Given the description of an element on the screen output the (x, y) to click on. 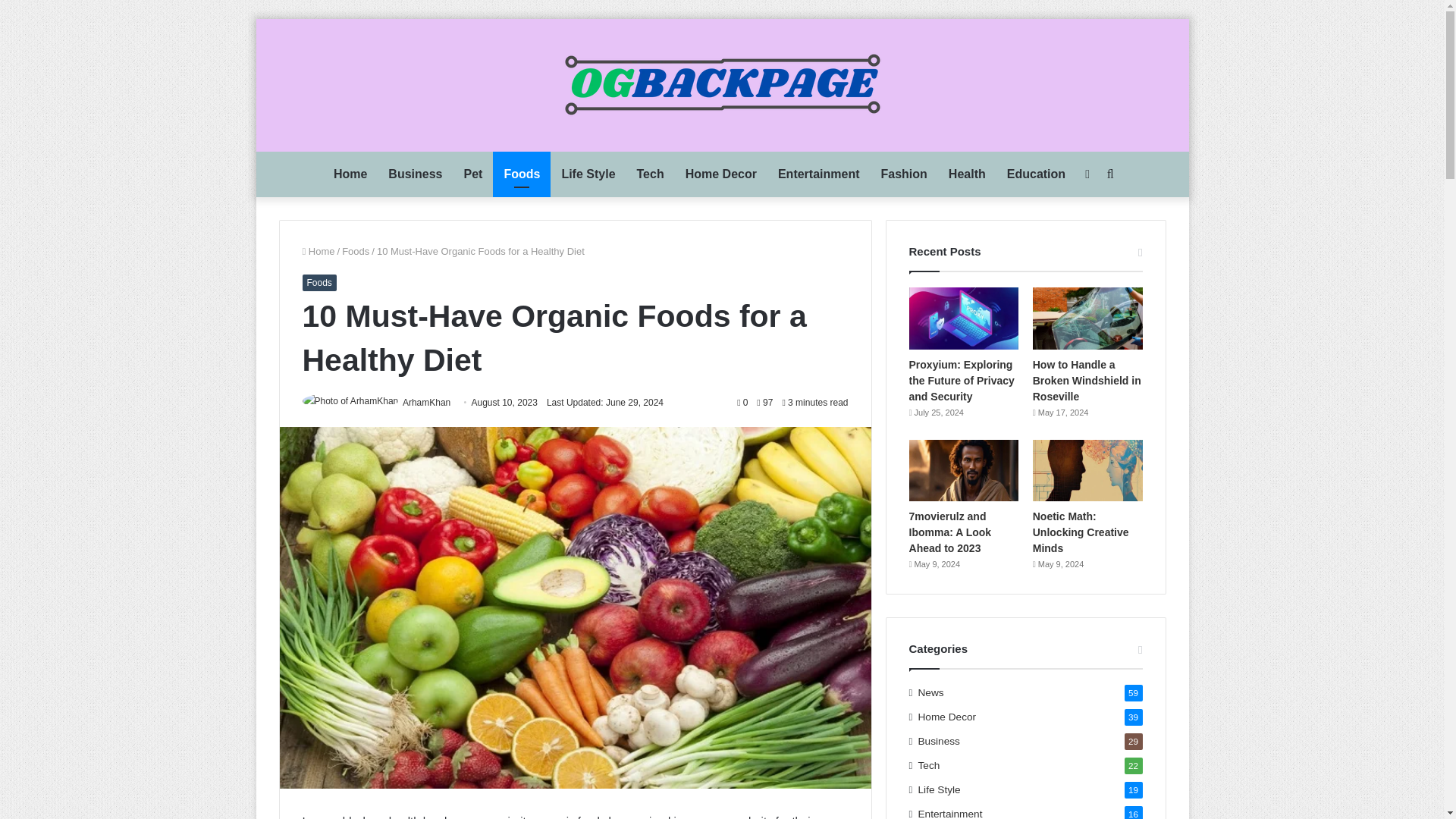
OGbackpage (722, 85)
Business (414, 174)
Fashion (903, 174)
Life Style (588, 174)
Home (350, 174)
Home Decor (721, 174)
Home (317, 251)
Tech (650, 174)
Education (1035, 174)
Foods (521, 174)
